Given the description of an element on the screen output the (x, y) to click on. 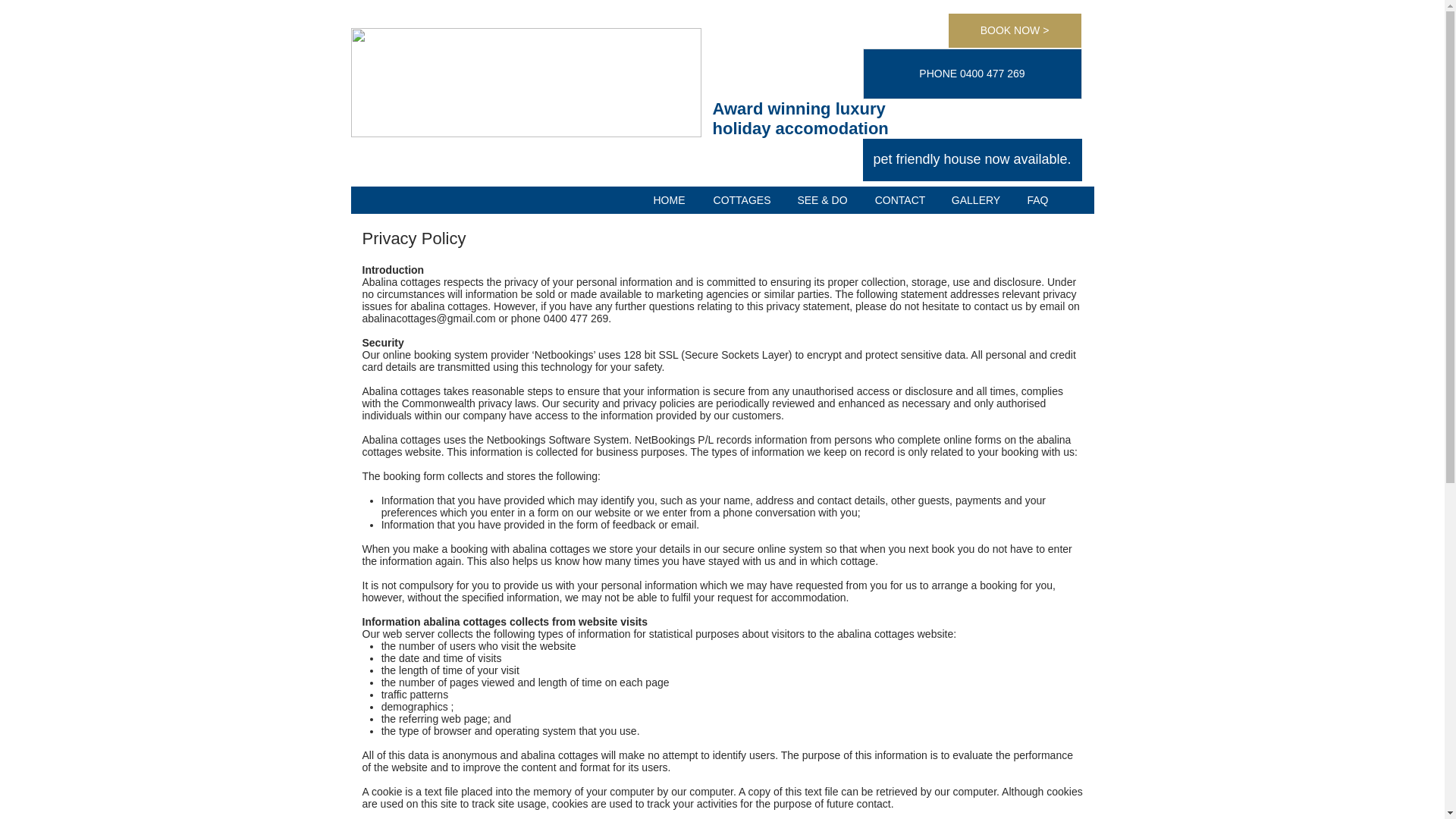
COTTAGES (742, 199)
pet friendly house now available. (972, 159)
CONTACT (900, 199)
HOME (669, 199)
FAQ (1037, 199)
PHONE 0400 477 269 (972, 73)
GALLERY (975, 199)
Abaline Logo.png (525, 82)
